Given the description of an element on the screen output the (x, y) to click on. 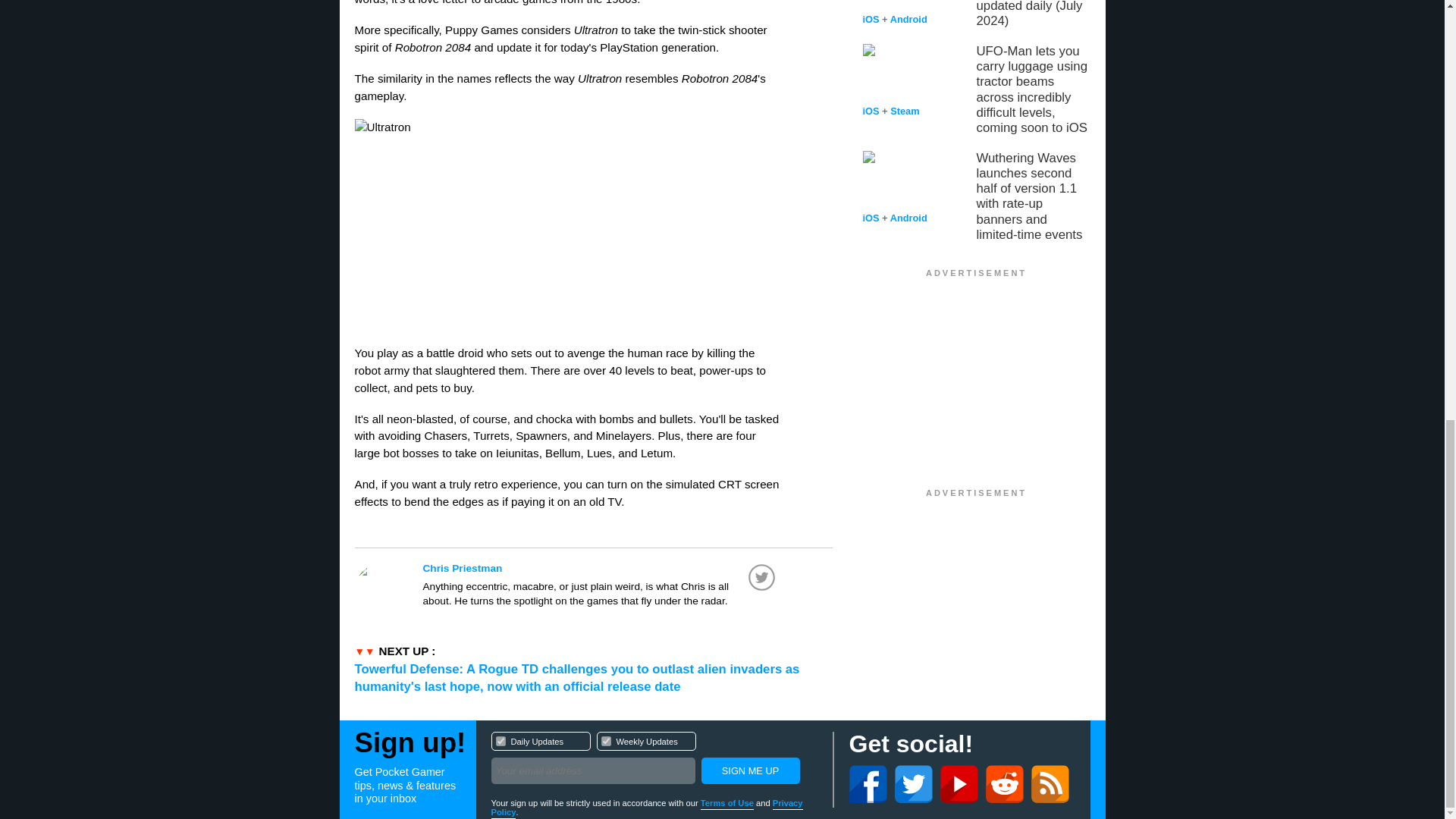
Terms of Use (727, 803)
Sign Me Up (749, 770)
2 (654, 759)
1 (604, 741)
Chris Priestman (500, 741)
Sign Me Up (600, 568)
